Given the description of an element on the screen output the (x, y) to click on. 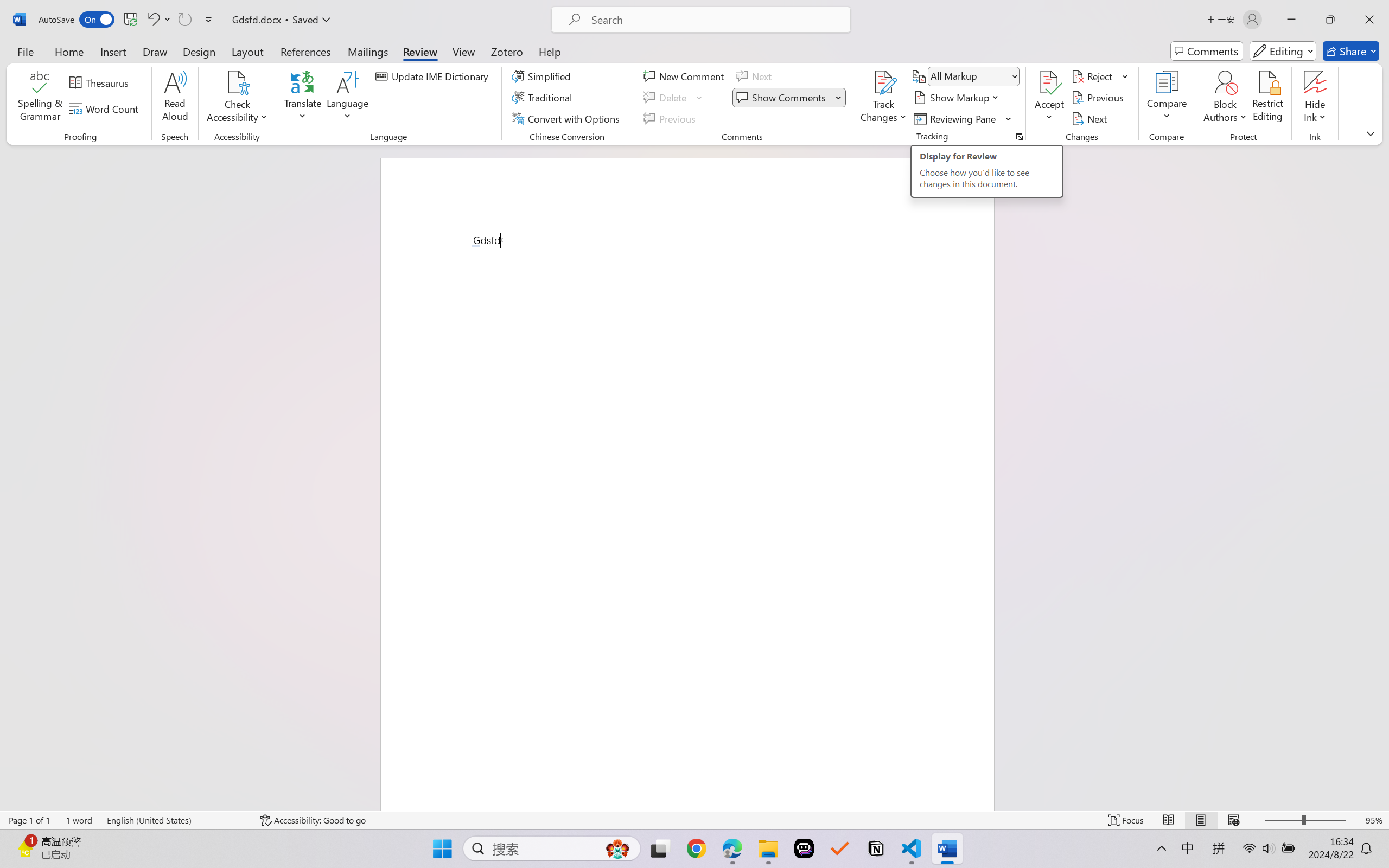
Microsoft search (715, 19)
Thesaurus... (101, 82)
Check Accessibility (237, 81)
Convert with Options... (567, 118)
Show Comments (788, 97)
Show Comments (782, 97)
